Given the description of an element on the screen output the (x, y) to click on. 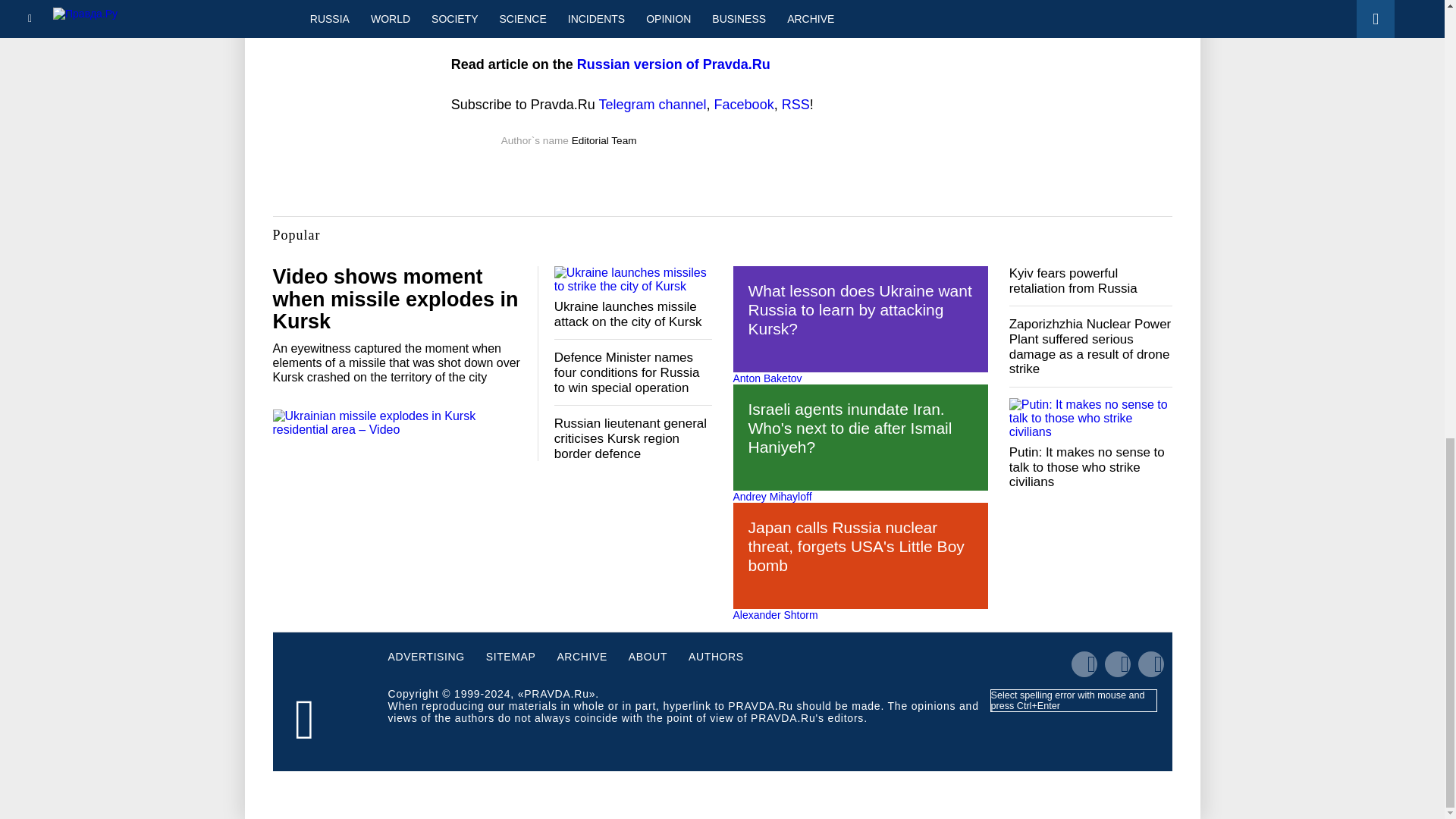
Russian version of Pravda.Ru (673, 64)
Telegram channel (652, 104)
RSS (795, 104)
Facebook (744, 104)
